Given the description of an element on the screen output the (x, y) to click on. 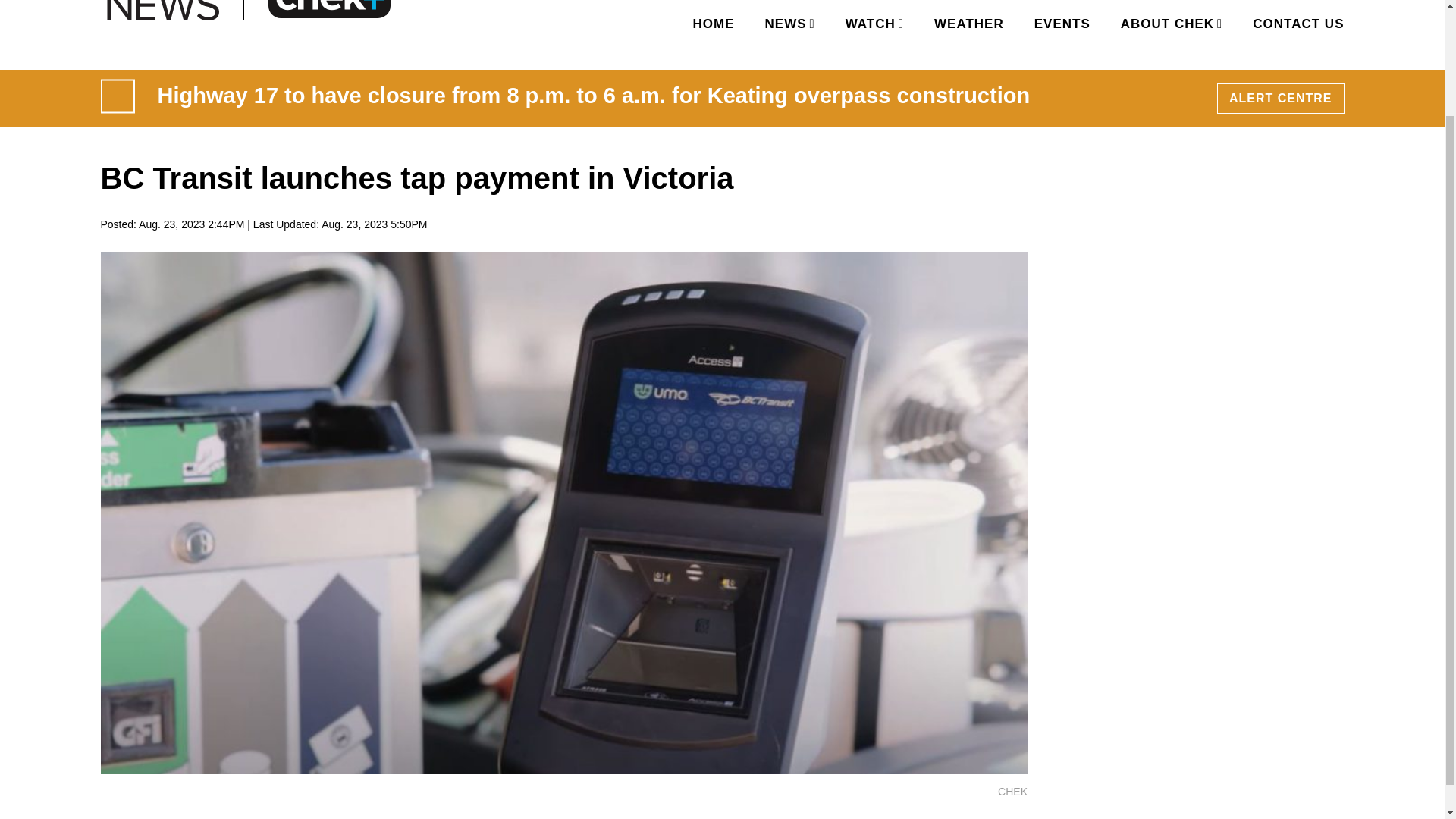
HOME (714, 24)
NEWS (787, 24)
